Given the description of an element on the screen output the (x, y) to click on. 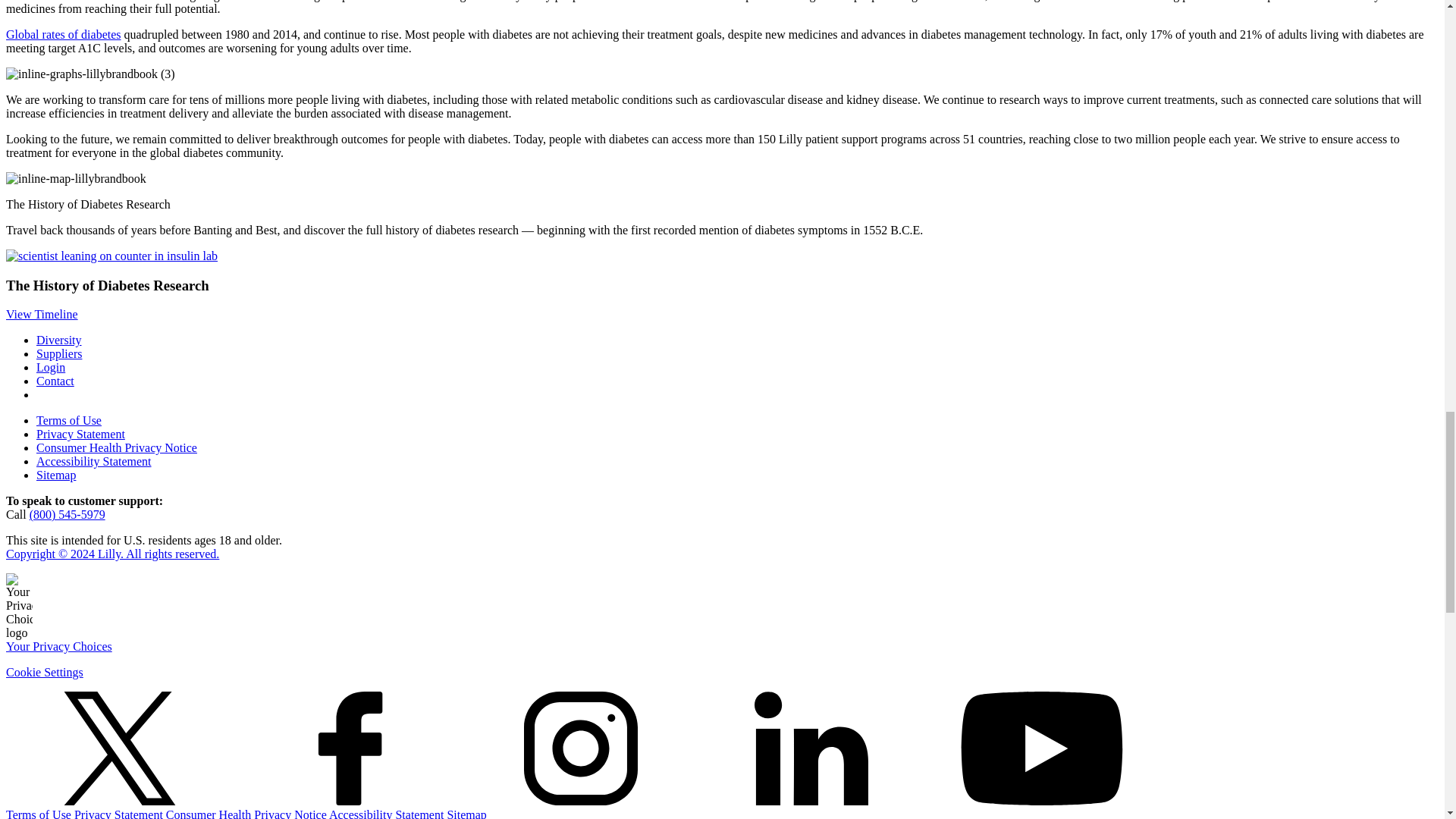
Instagram (580, 748)
LinkedIn (810, 748)
X (118, 748)
YouTube (1042, 748)
Facebook (349, 748)
